Given the description of an element on the screen output the (x, y) to click on. 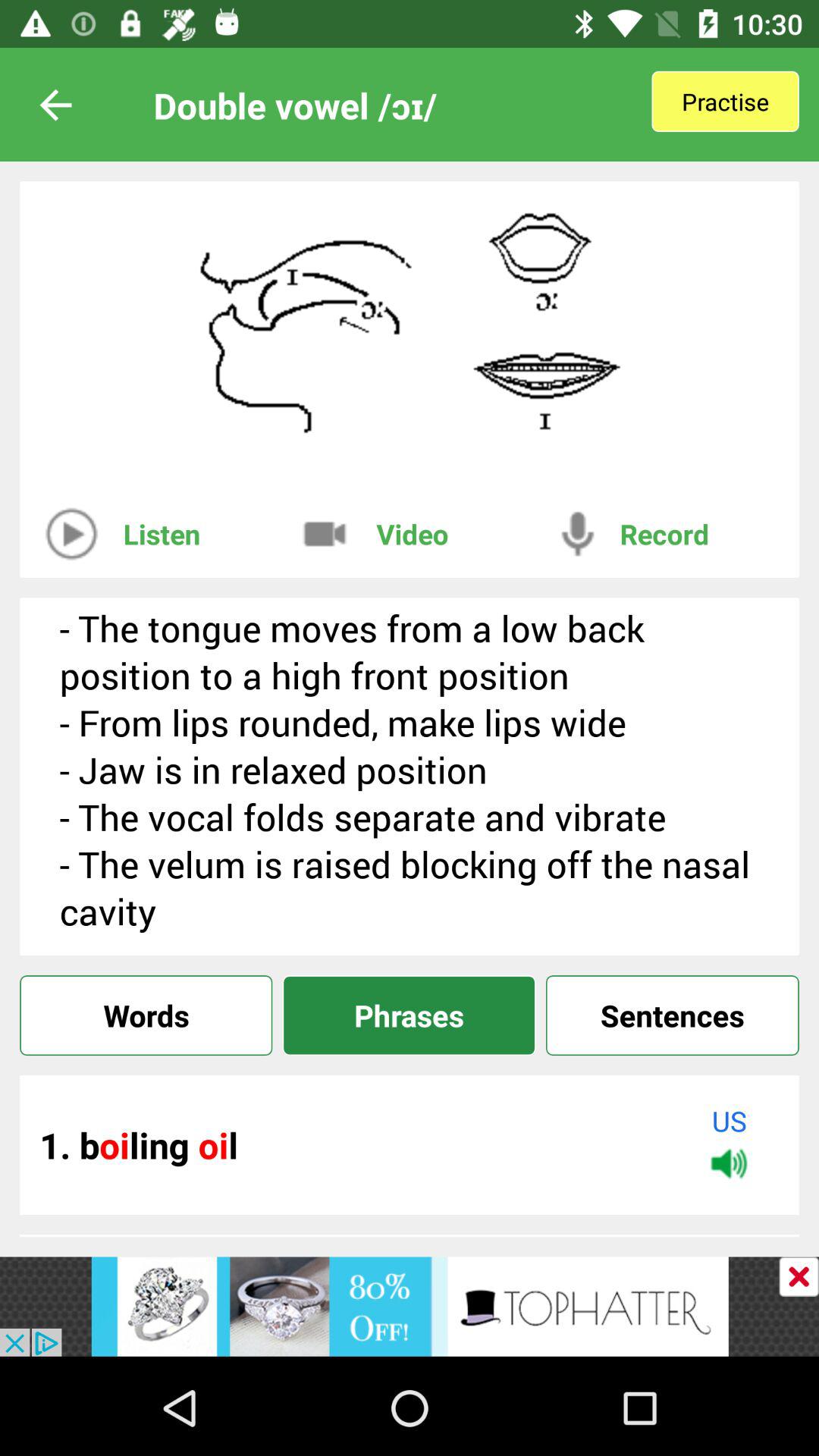
link to advertisement website (409, 1306)
